Given the description of an element on the screen output the (x, y) to click on. 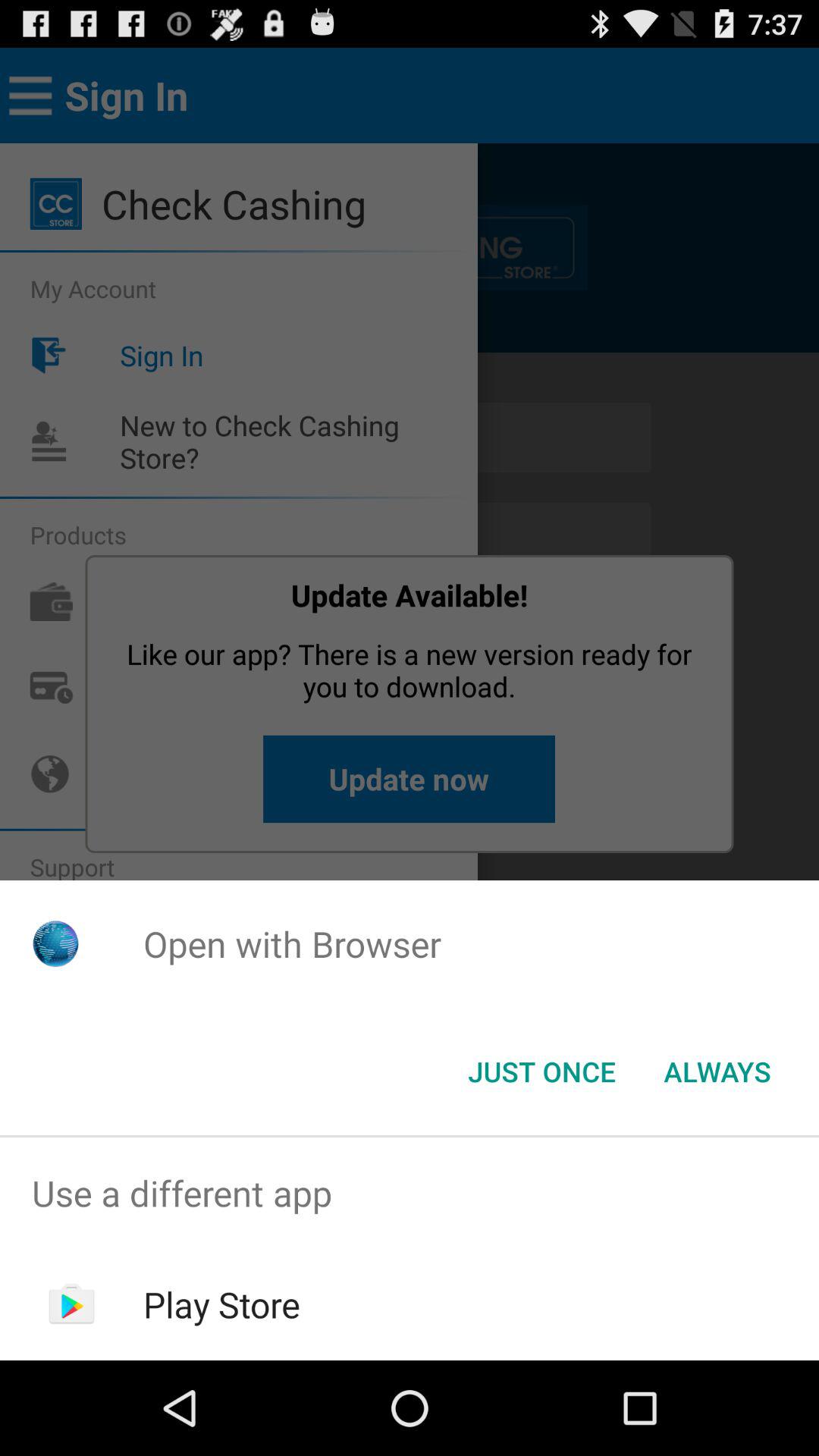
select the just once button (541, 1071)
